Given the description of an element on the screen output the (x, y) to click on. 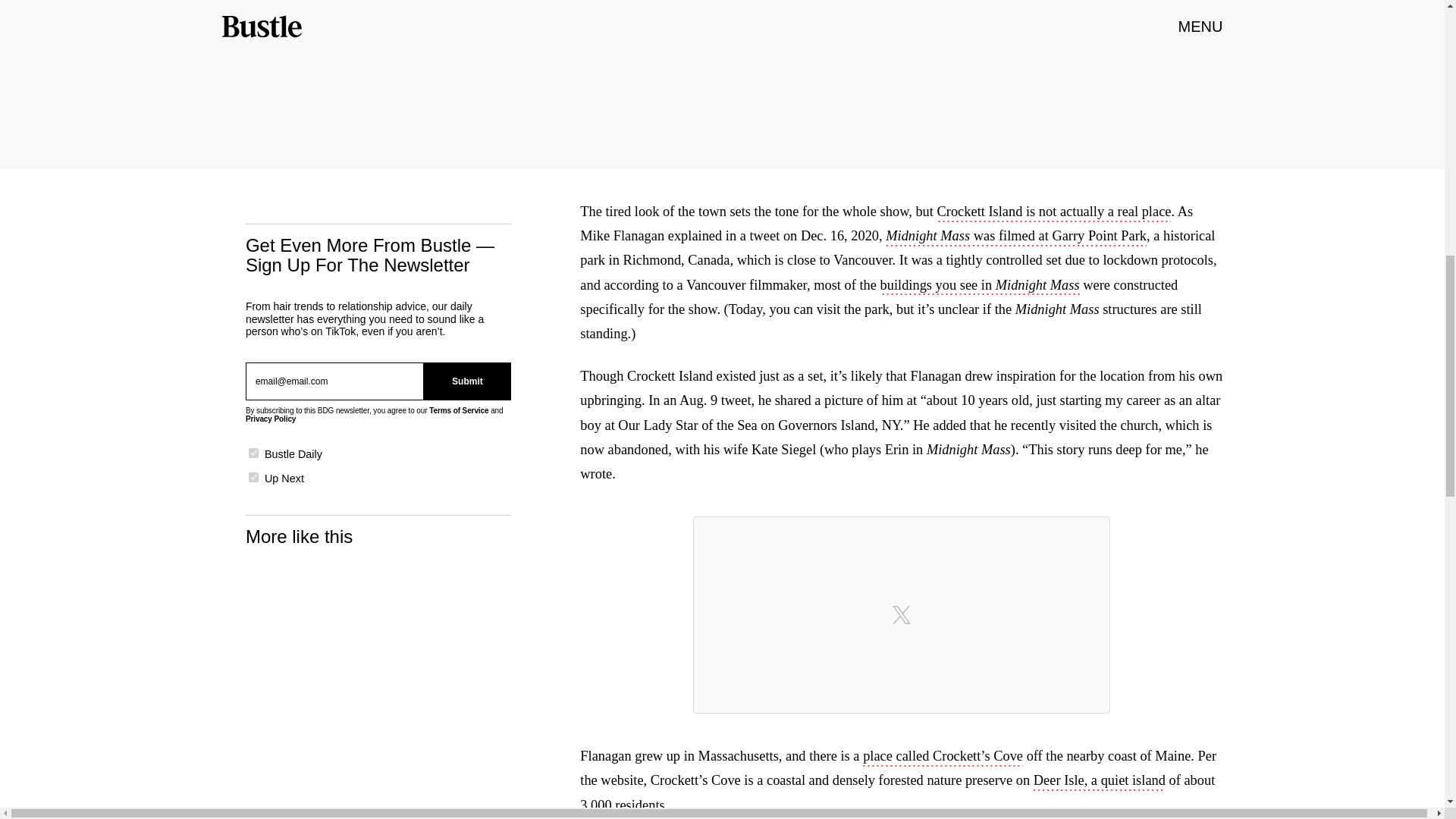
Deer Isle, a quiet island (1099, 782)
buildings you see in Midnight Mass (980, 286)
Submit (467, 381)
Terms of Service (458, 410)
Privacy Policy (270, 418)
Midnight Mass was filmed at Garry Point Park (1016, 237)
Crockett Island is not actually a real place (1054, 212)
